Given the description of an element on the screen output the (x, y) to click on. 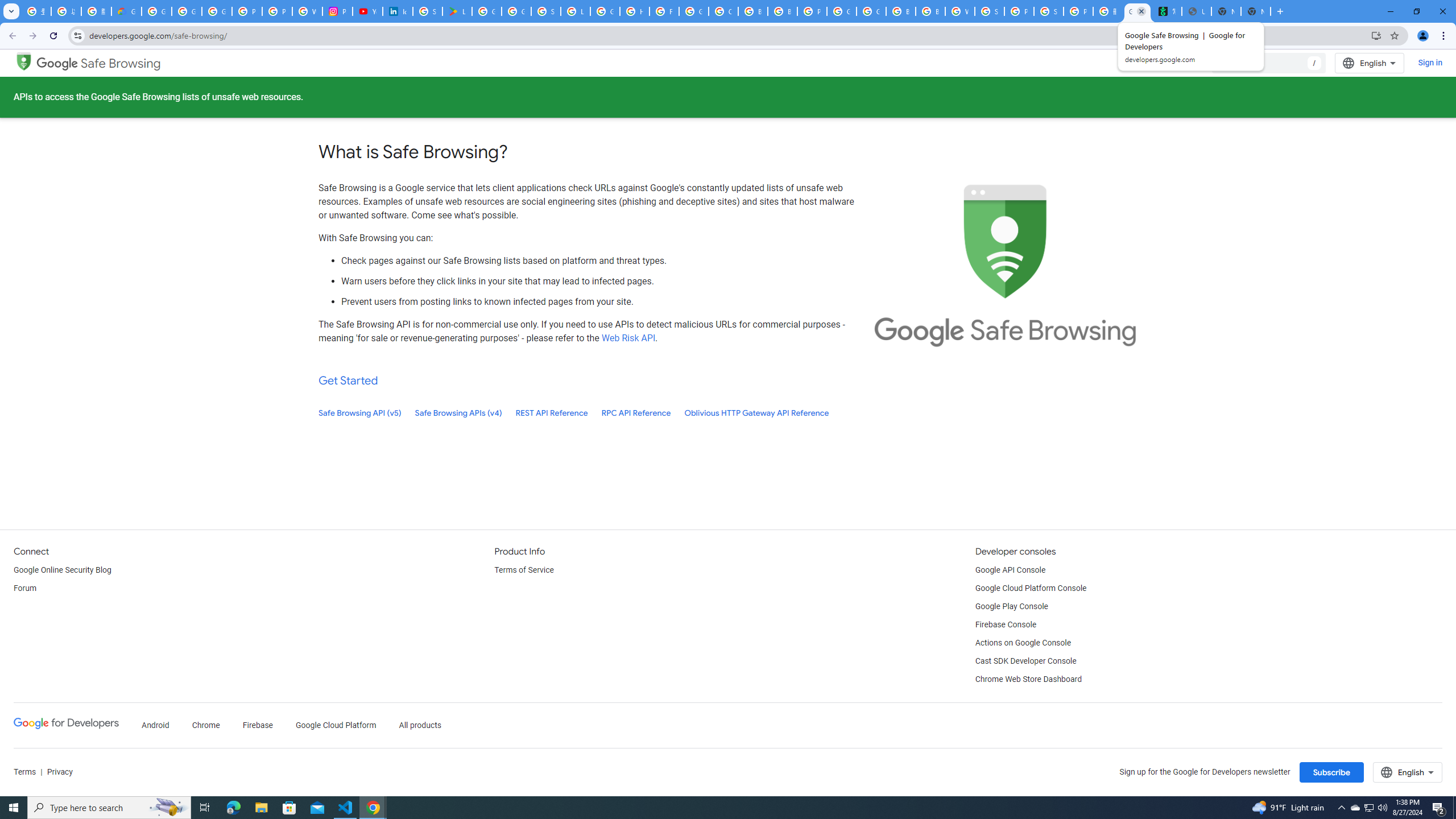
Oblivious HTTP Gateway API Reference (756, 412)
Install Google Developers (1376, 35)
Privacy Help Center - Policies Help (277, 11)
Web Risk API (628, 337)
YouTube Culture & Trends - On The Rise: Handcam Videos (367, 11)
Actions on Google Console (1023, 642)
Google Cloud Platform (841, 11)
Browse Chrome as a guest - Computer - Google Chrome Help (753, 11)
